Given the description of an element on the screen output the (x, y) to click on. 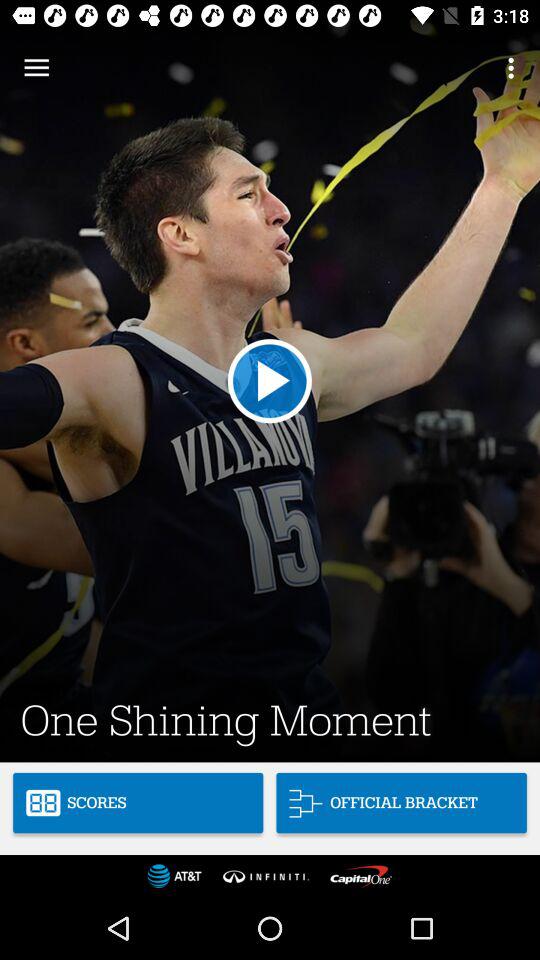
tap item next to the scores icon (401, 802)
